Given the description of an element on the screen output the (x, y) to click on. 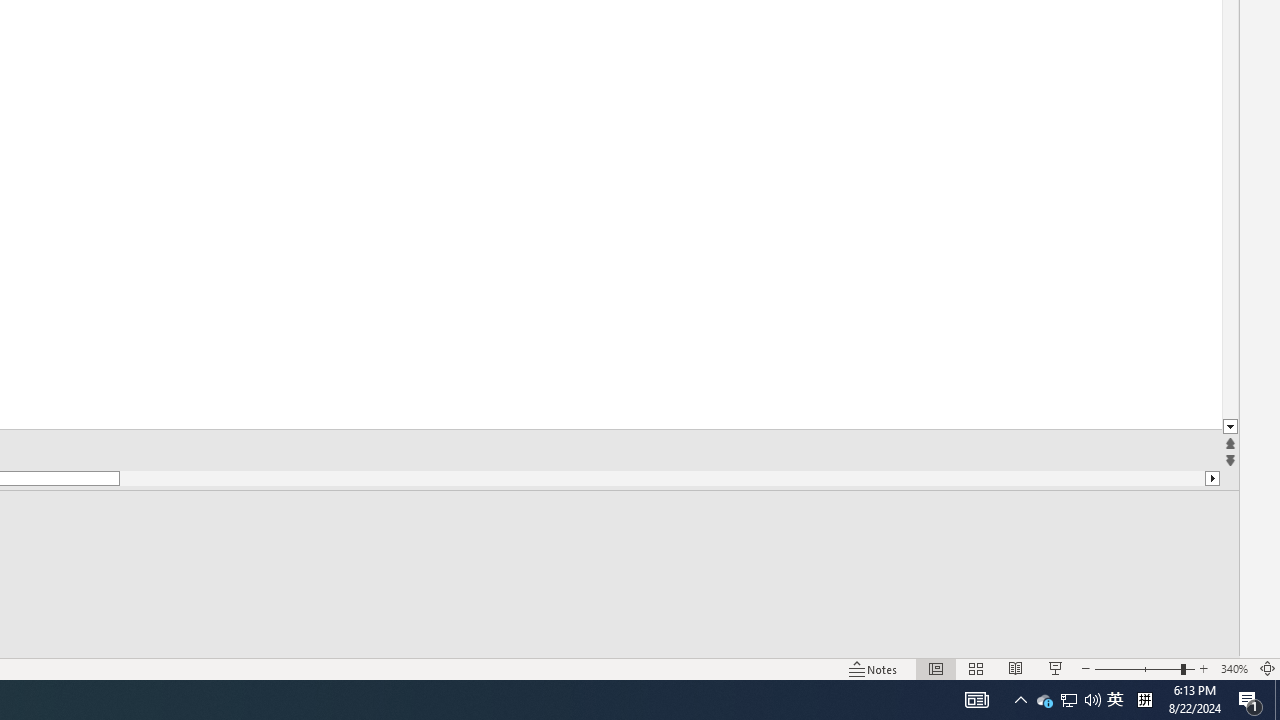
Zoom 340% (1234, 668)
